Given the description of an element on the screen output the (x, y) to click on. 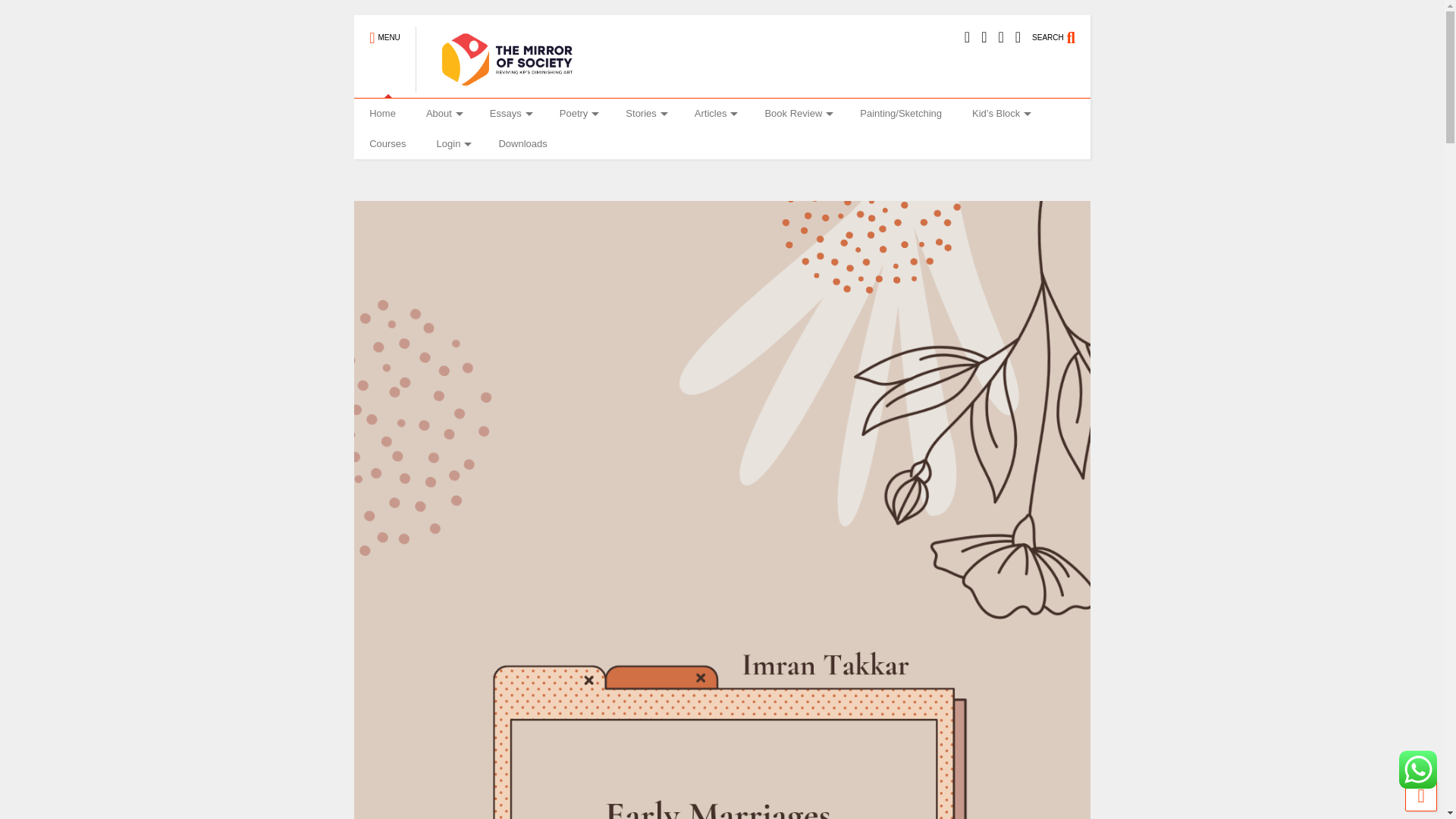
Courses (386, 143)
Stories (644, 113)
The Mirror of Society (498, 85)
About (442, 113)
Poetry (577, 113)
Articles (714, 113)
Book Review (796, 113)
Essays (509, 113)
Login (452, 143)
SEARCH (1061, 30)
